Given the description of an element on the screen output the (x, y) to click on. 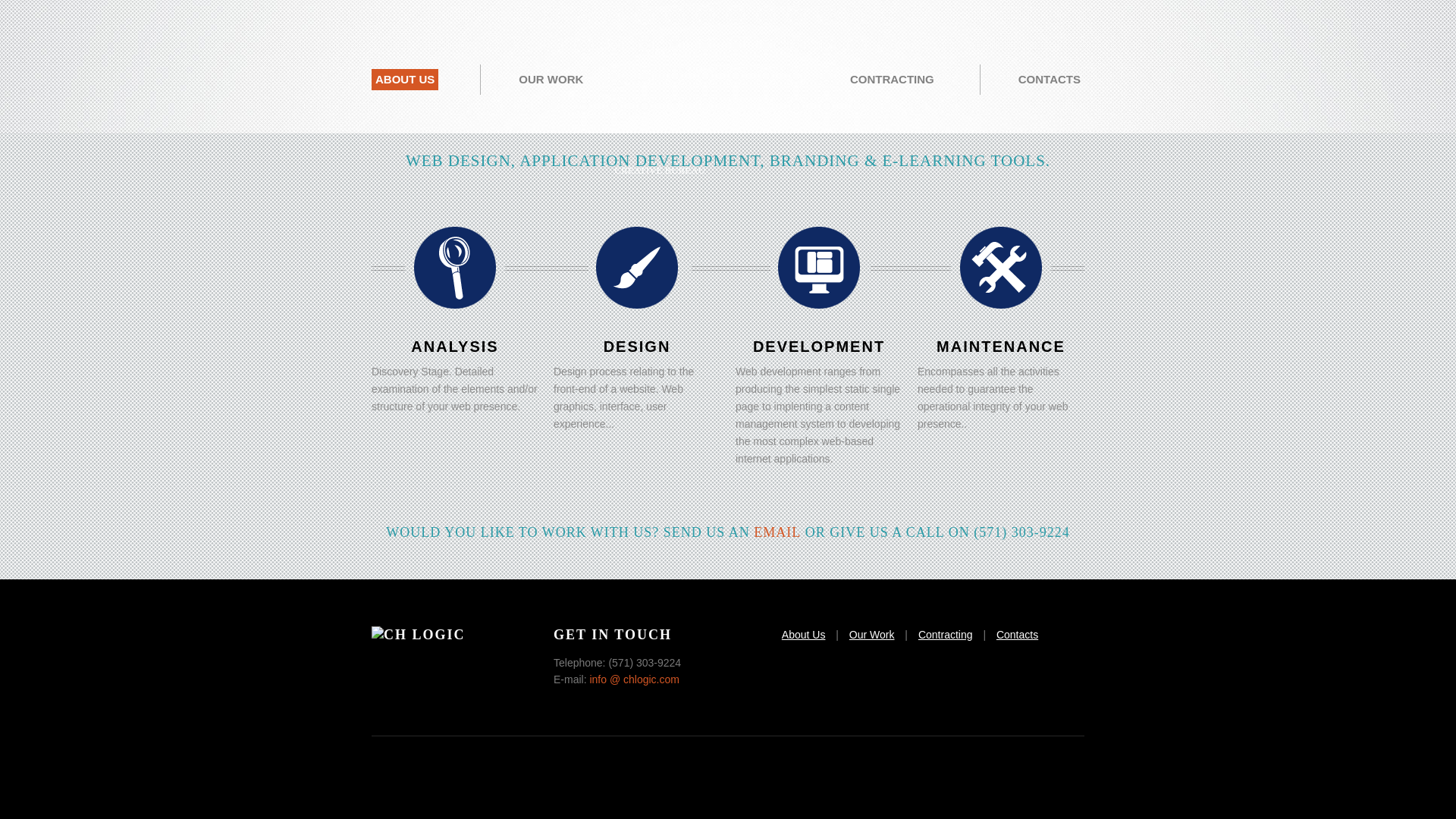
CONTRACTING (891, 79)
OUR WORK (550, 79)
Our Work (871, 634)
CONTACTS (1049, 79)
EMAIL (777, 531)
About Us (803, 634)
ABOUT US (404, 79)
Contacts (1016, 634)
Contracting (945, 634)
